Given the description of an element on the screen output the (x, y) to click on. 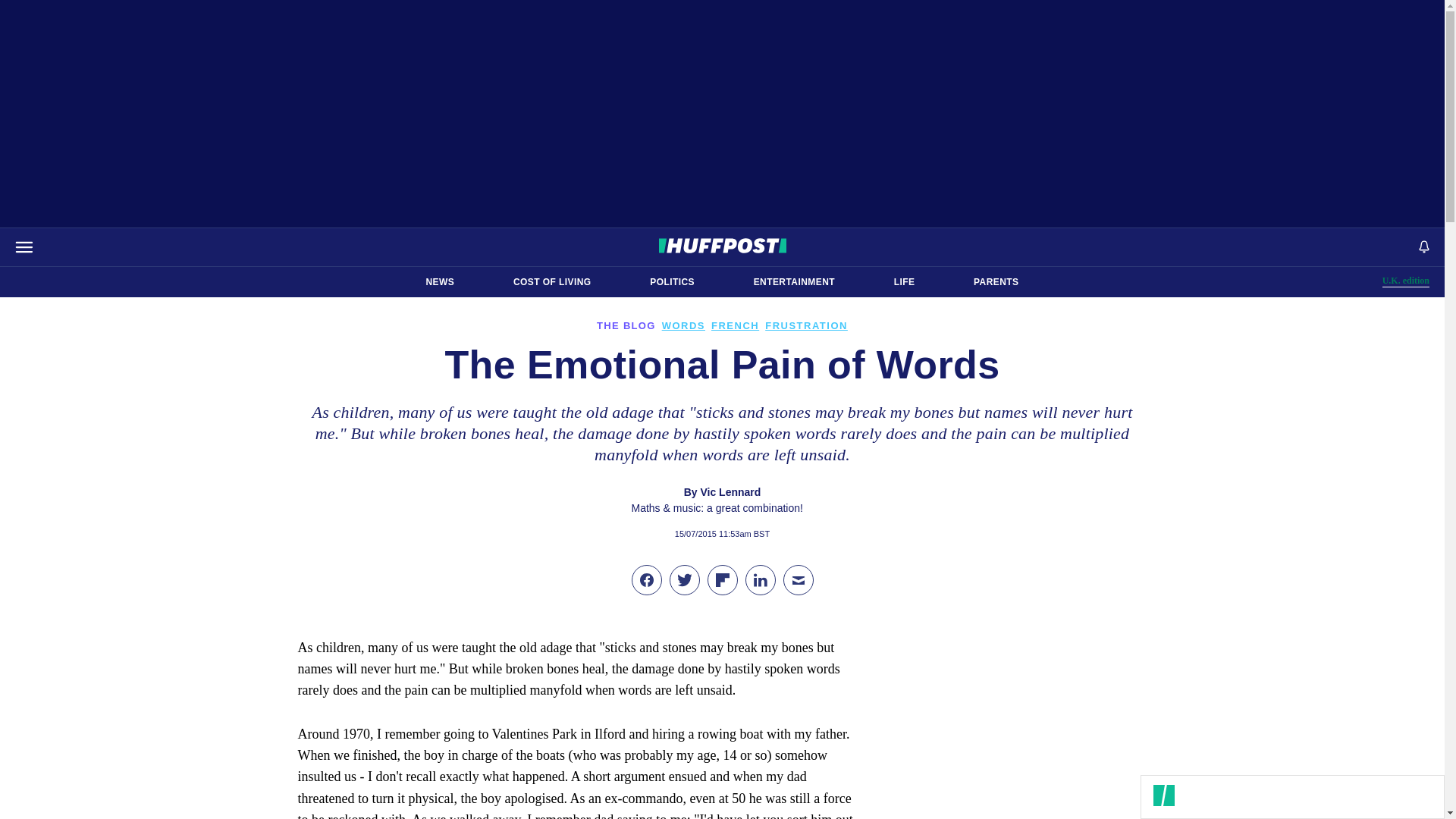
LIFE (1405, 281)
NEWS (904, 281)
PARENTS (440, 281)
COST OF LIVING (995, 281)
POLITICS (552, 281)
ENTERTAINMENT (671, 281)
